Given the description of an element on the screen output the (x, y) to click on. 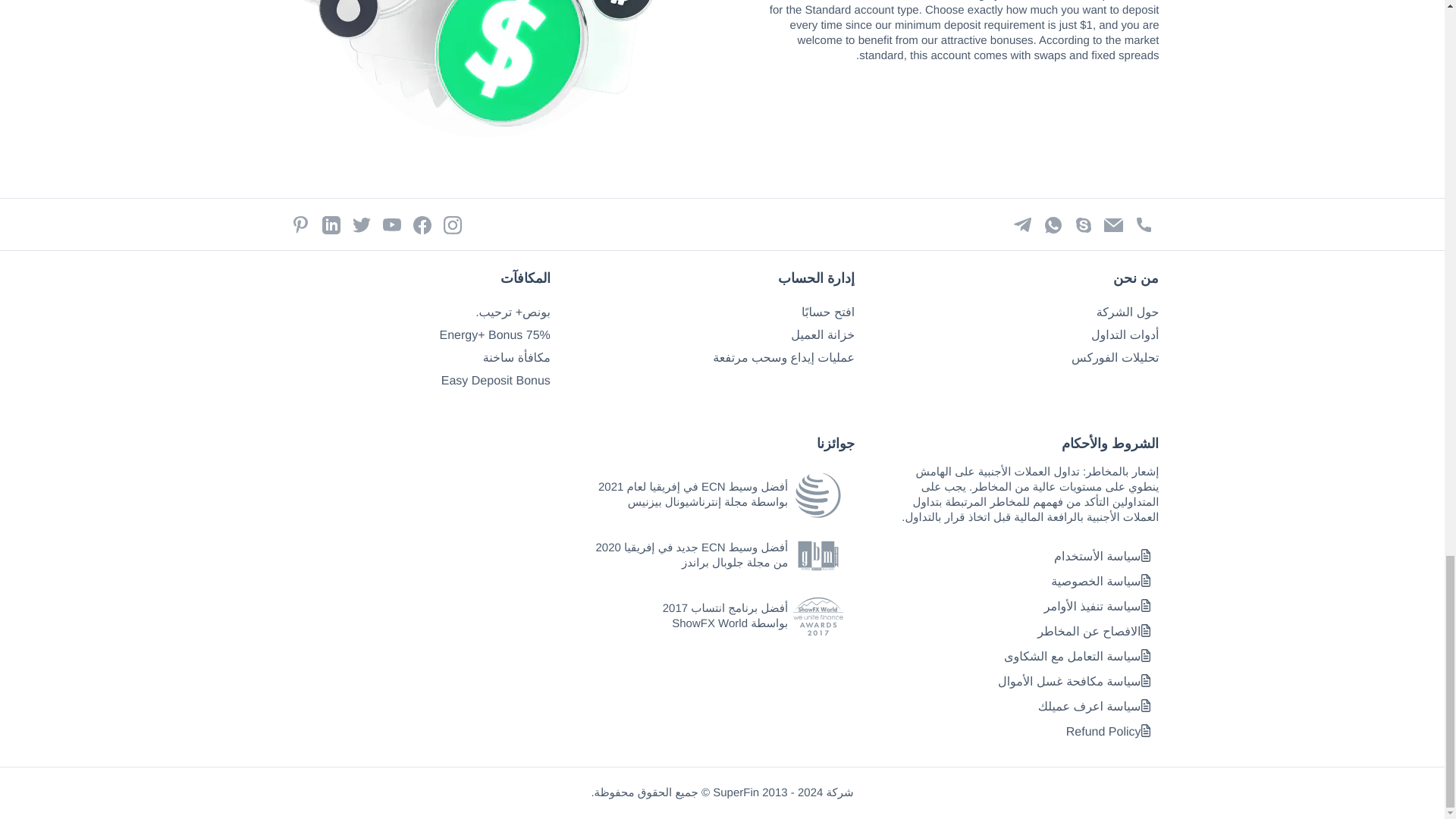
Easy Deposit Bonus (495, 381)
